Given the description of an element on the screen output the (x, y) to click on. 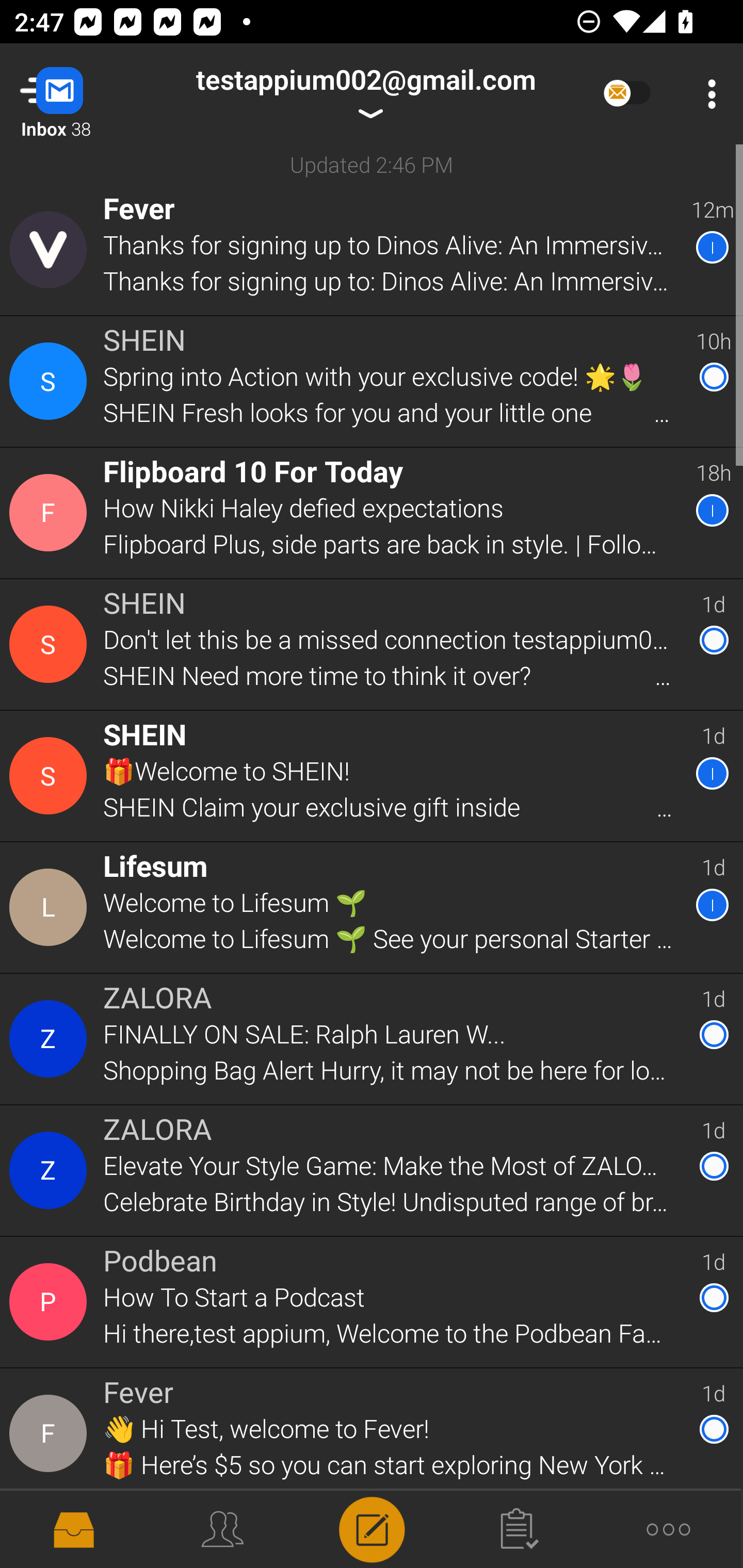
Navigate up (81, 93)
testappium002@gmail.com (365, 93)
More Options (706, 93)
Updated 2:46 PM (371, 164)
Contact Details (50, 250)
Contact Details (50, 381)
Contact Details (50, 513)
Contact Details (50, 644)
Contact Details (50, 776)
Contact Details (50, 907)
Contact Details (50, 1038)
Contact Details (50, 1170)
Contact Details (50, 1302)
Contact Details (50, 1433)
